Given the description of an element on the screen output the (x, y) to click on. 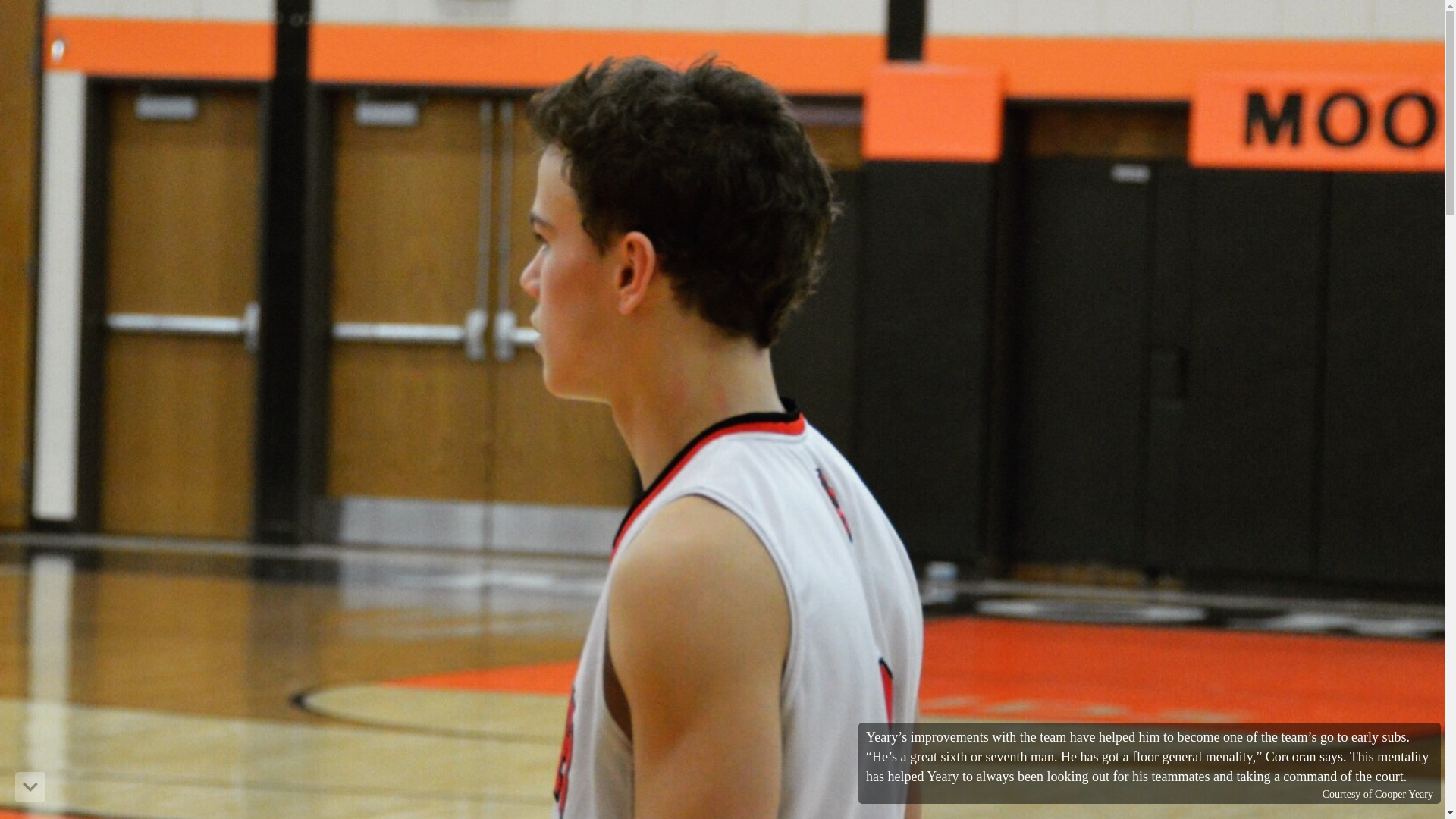
Courtesy of Cooper Yeary (1377, 794)
